Given the description of an element on the screen output the (x, y) to click on. 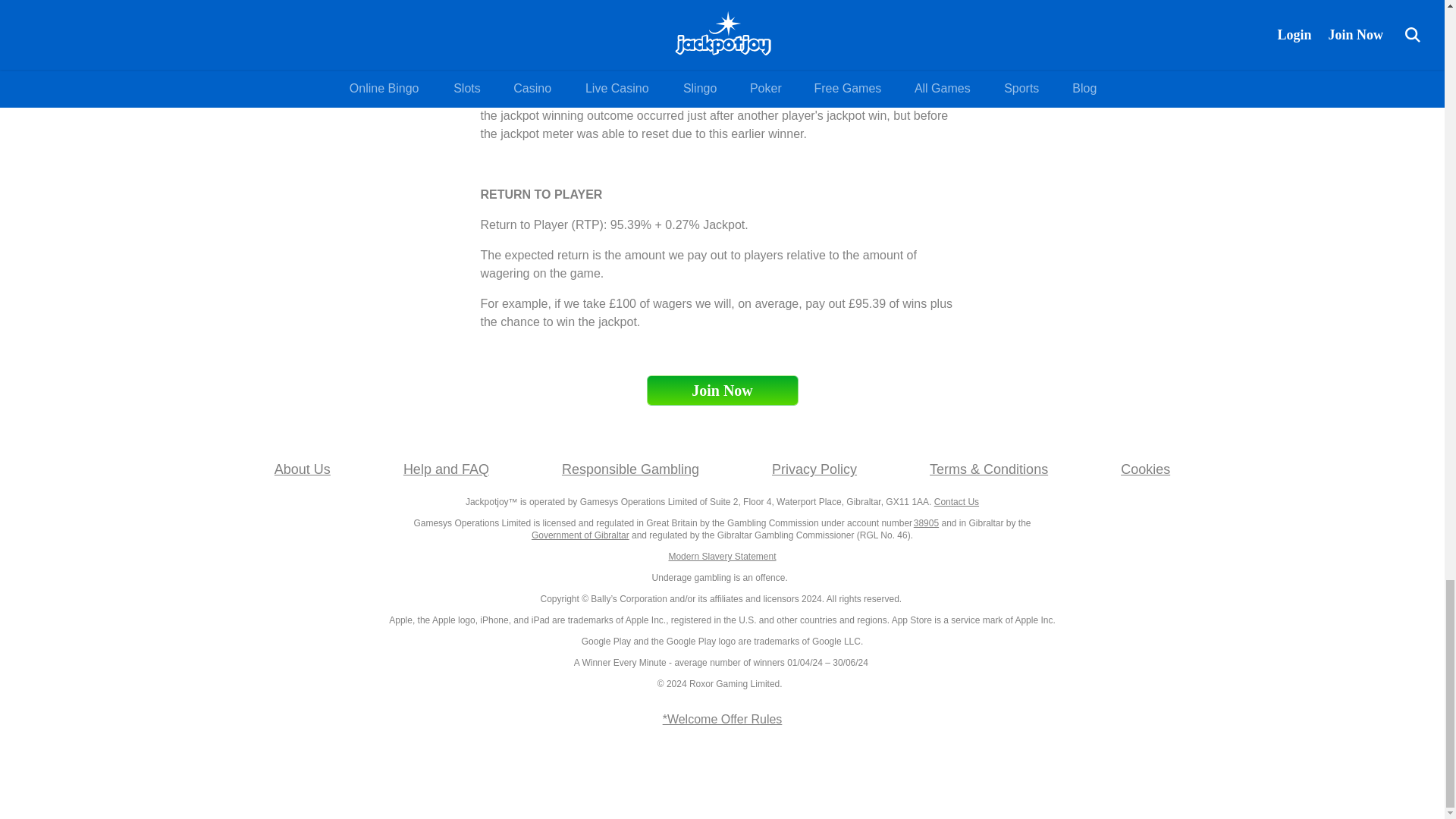
Join Now (721, 390)
Government of Gibraltar (579, 535)
Help and FAQ (446, 469)
38905 (926, 522)
About Us (302, 469)
Cookies (1145, 469)
Modern Slavery Statement (722, 556)
Responsible Gambling (630, 469)
Join Now (721, 390)
Privacy Policy (814, 469)
